Given the description of an element on the screen output the (x, y) to click on. 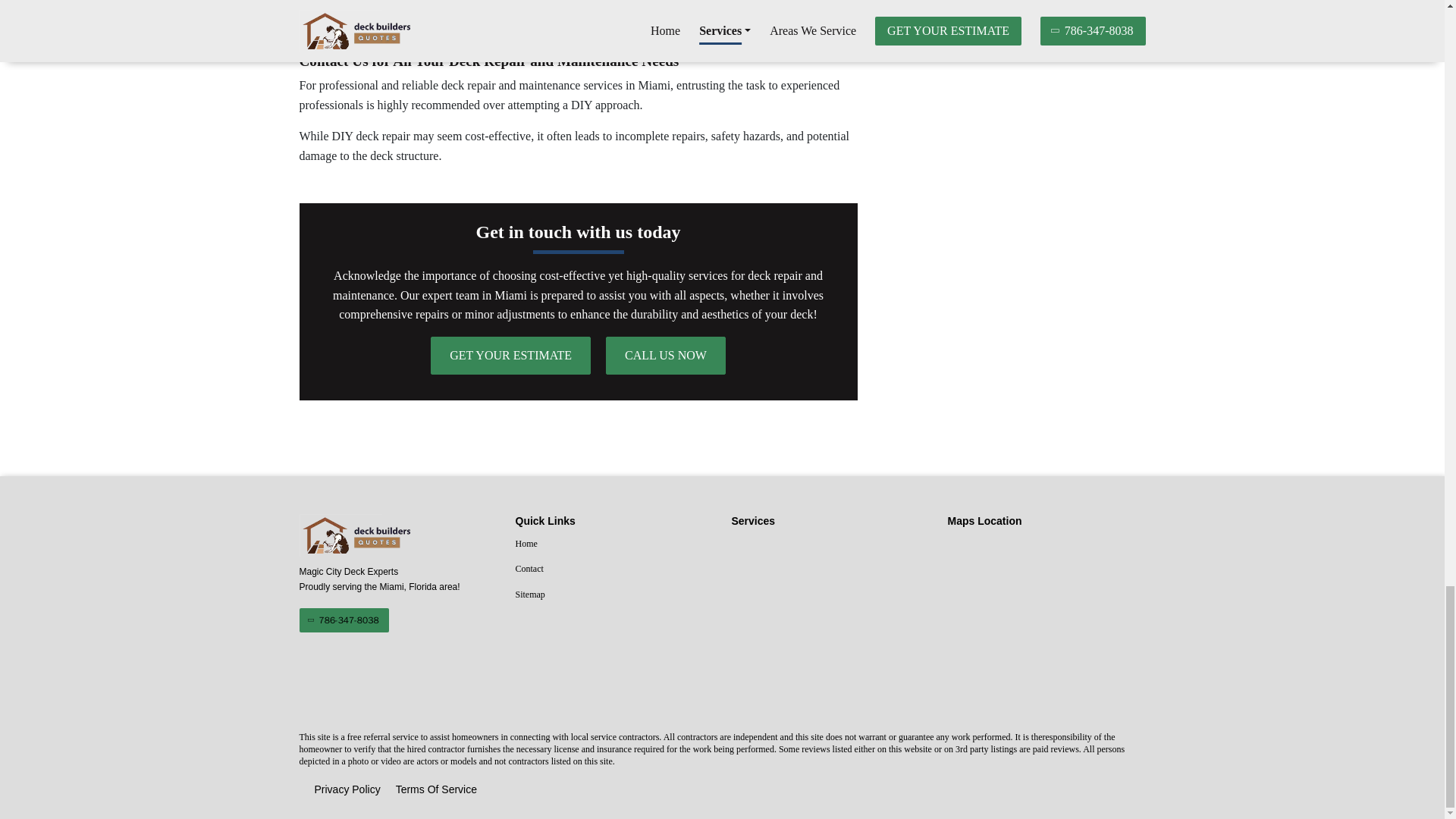
CALL US NOW (665, 355)
Sitemap (614, 595)
GET YOUR ESTIMATE (510, 355)
Terms Of Service (436, 790)
Privacy Policy (347, 790)
Home (614, 544)
Contact (614, 569)
786-347-8038 (343, 620)
